Given the description of an element on the screen output the (x, y) to click on. 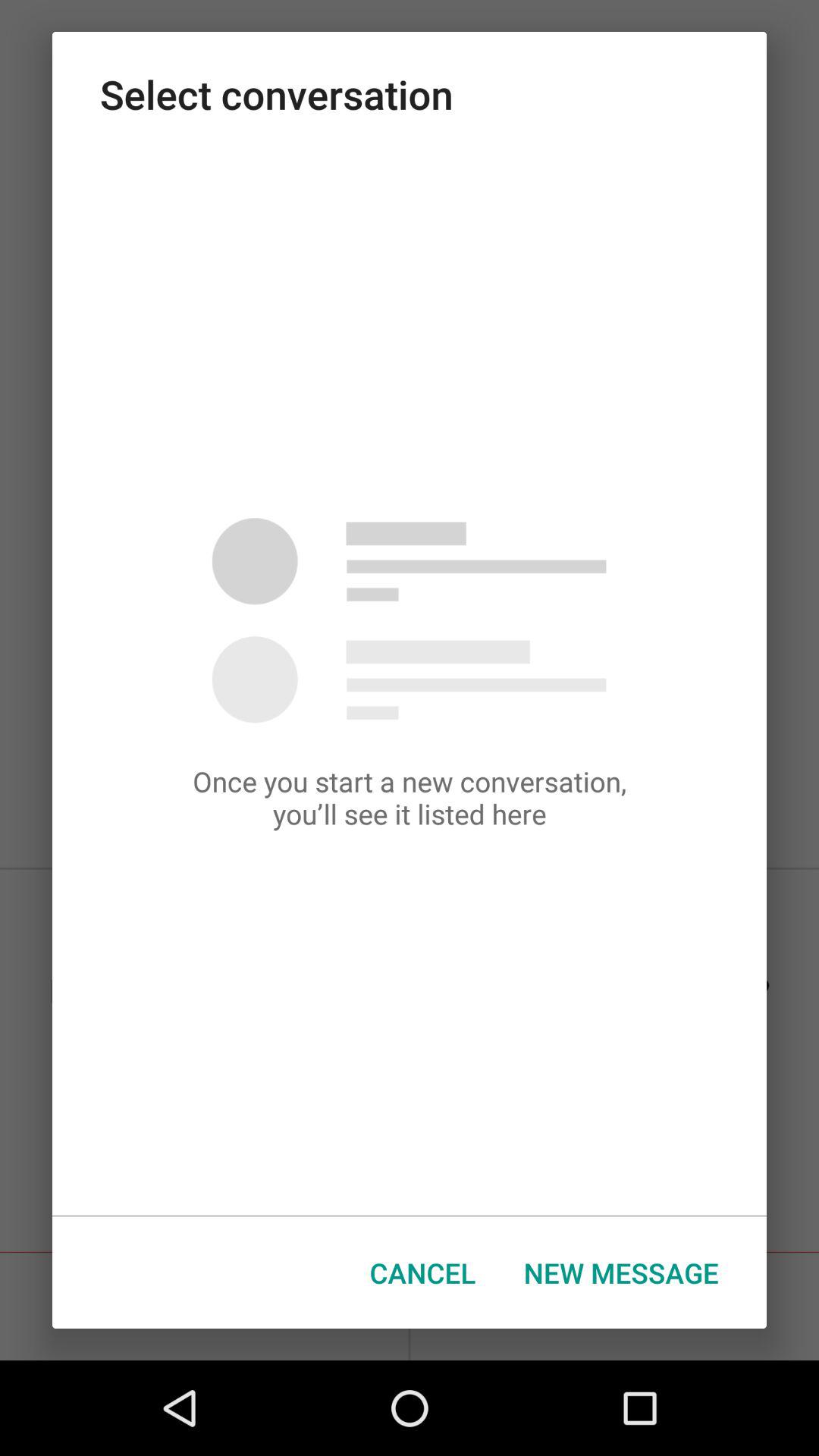
press icon next to the cancel (620, 1272)
